Given the description of an element on the screen output the (x, y) to click on. 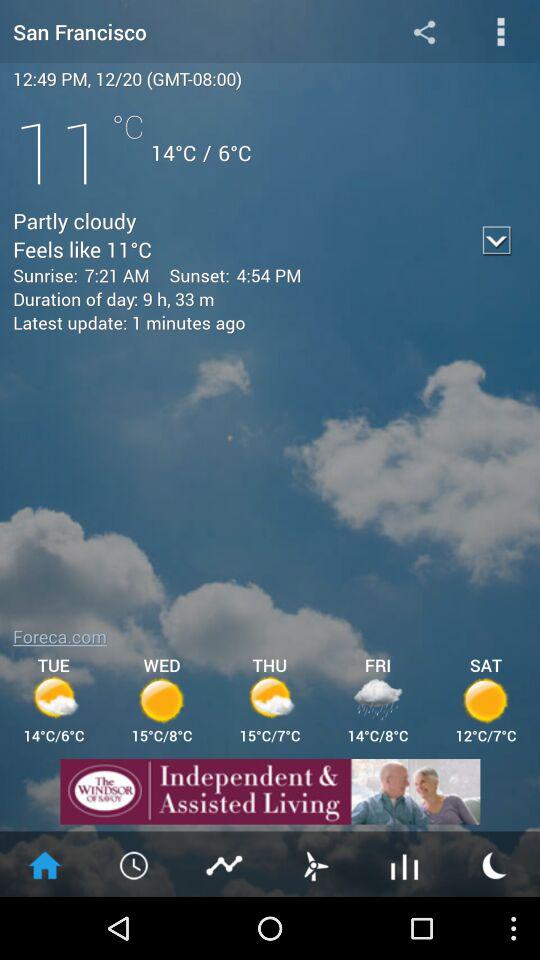
share the article (424, 31)
